Given the description of an element on the screen output the (x, y) to click on. 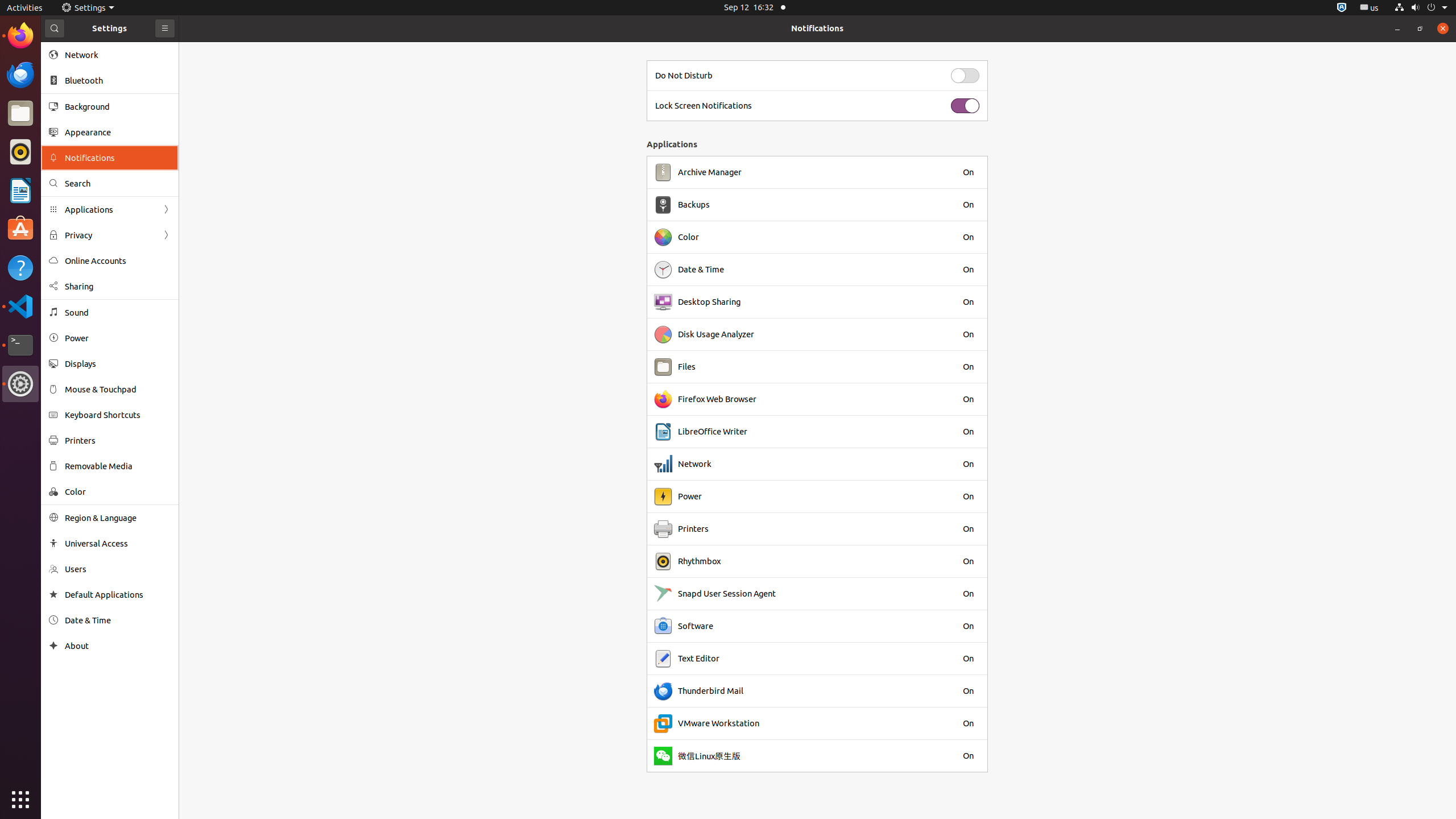
微信Linux原生版 Element type: label (708, 755)
Online Accounts Element type: label (117, 260)
Power Element type: label (117, 337)
Archive Manager Element type: label (709, 172)
